Given the description of an element on the screen output the (x, y) to click on. 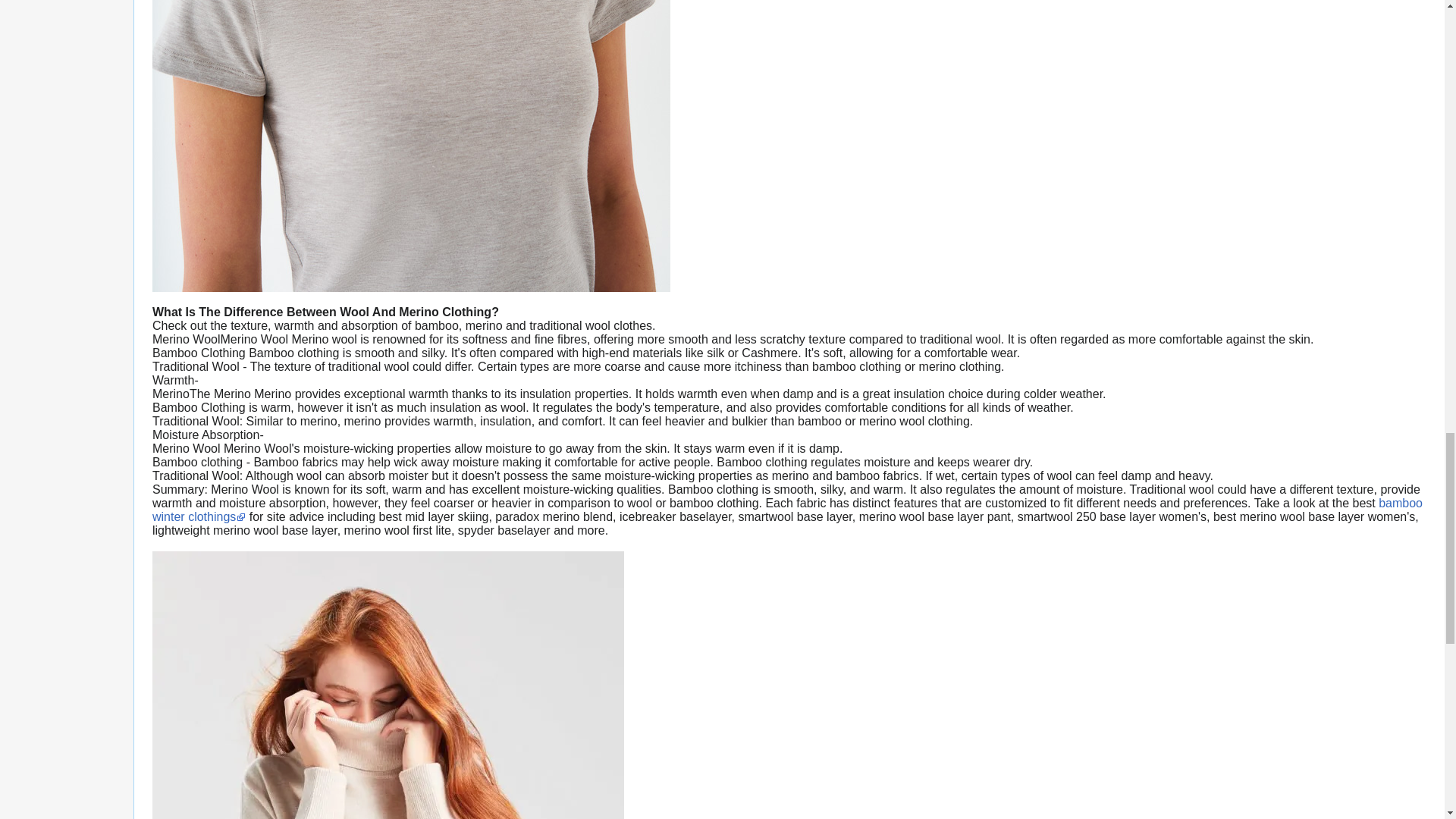
bamboo winter clothings (787, 509)
